Given the description of an element on the screen output the (x, y) to click on. 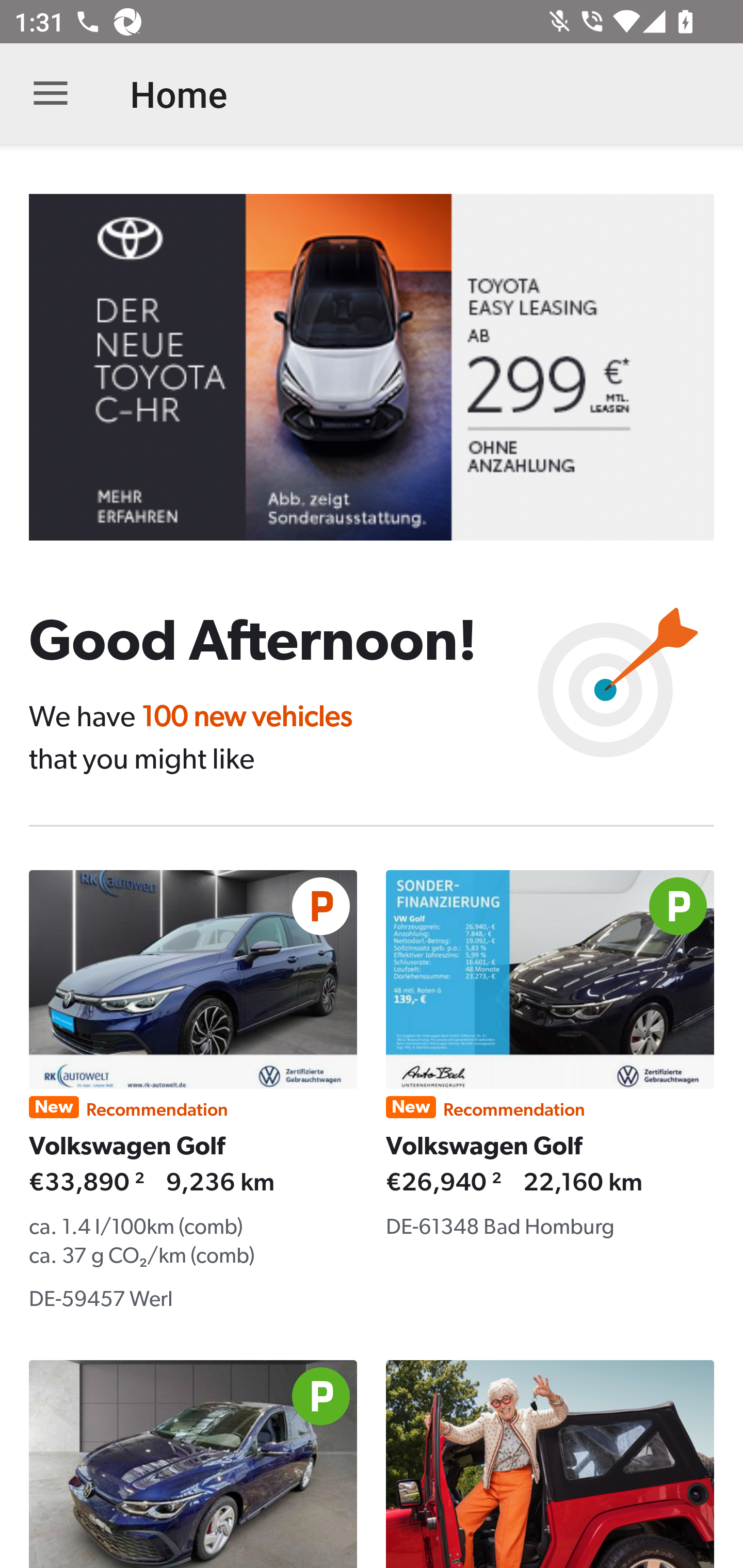
Open navigation bar (50, 93)
B31340770 (385, 367)
